Given the description of an element on the screen output the (x, y) to click on. 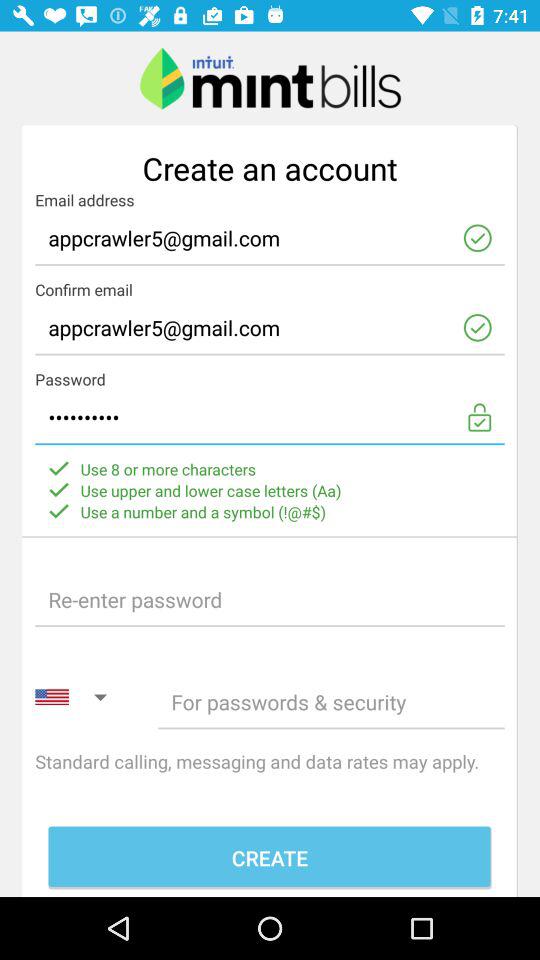
password box (269, 599)
